Given the description of an element on the screen output the (x, y) to click on. 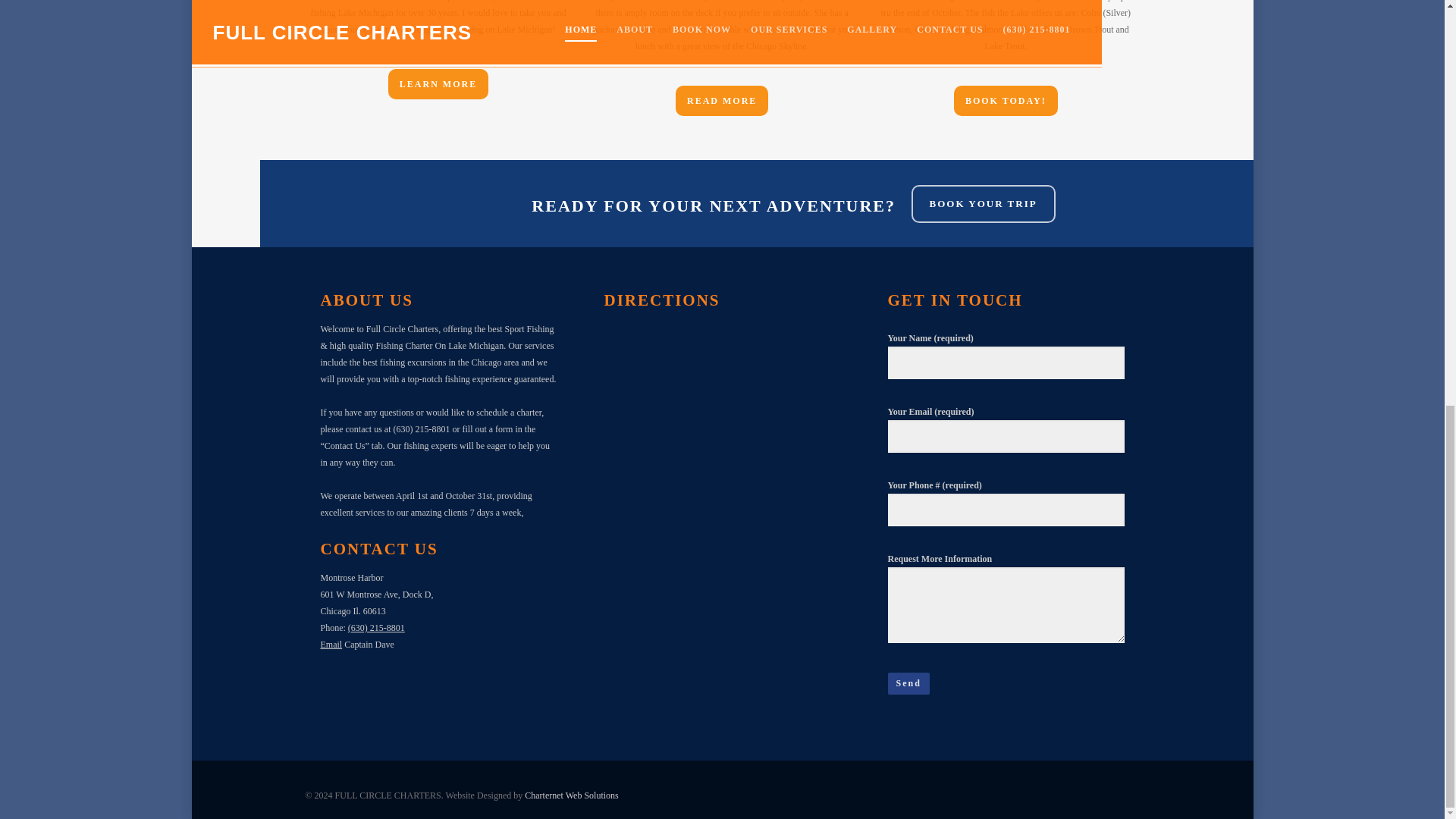
BOOK TODAY! (1005, 100)
BOOK YOUR TRIP (983, 203)
Send (907, 683)
Email (331, 644)
LEARN MORE (437, 83)
READ MORE (721, 100)
Send (907, 683)
Charternet Web Solutions (570, 795)
